Given the description of an element on the screen output the (x, y) to click on. 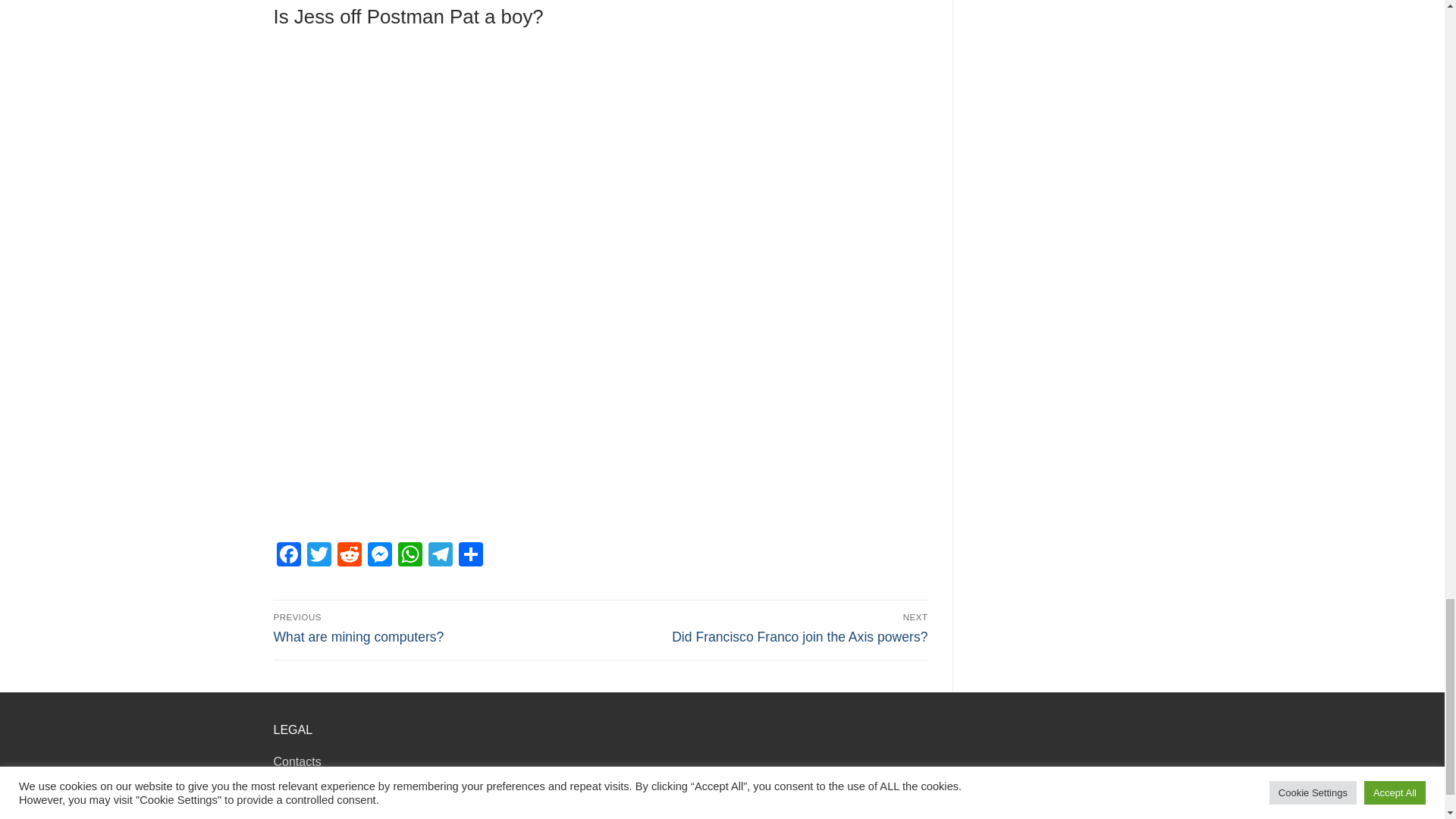
Twitter (317, 556)
Messenger (379, 556)
Reddit (348, 556)
WhatsApp (409, 556)
Messenger (379, 556)
Facebook (287, 556)
Telegram (439, 556)
WhatsApp (409, 556)
Twitter (317, 556)
